Given the description of an element on the screen output the (x, y) to click on. 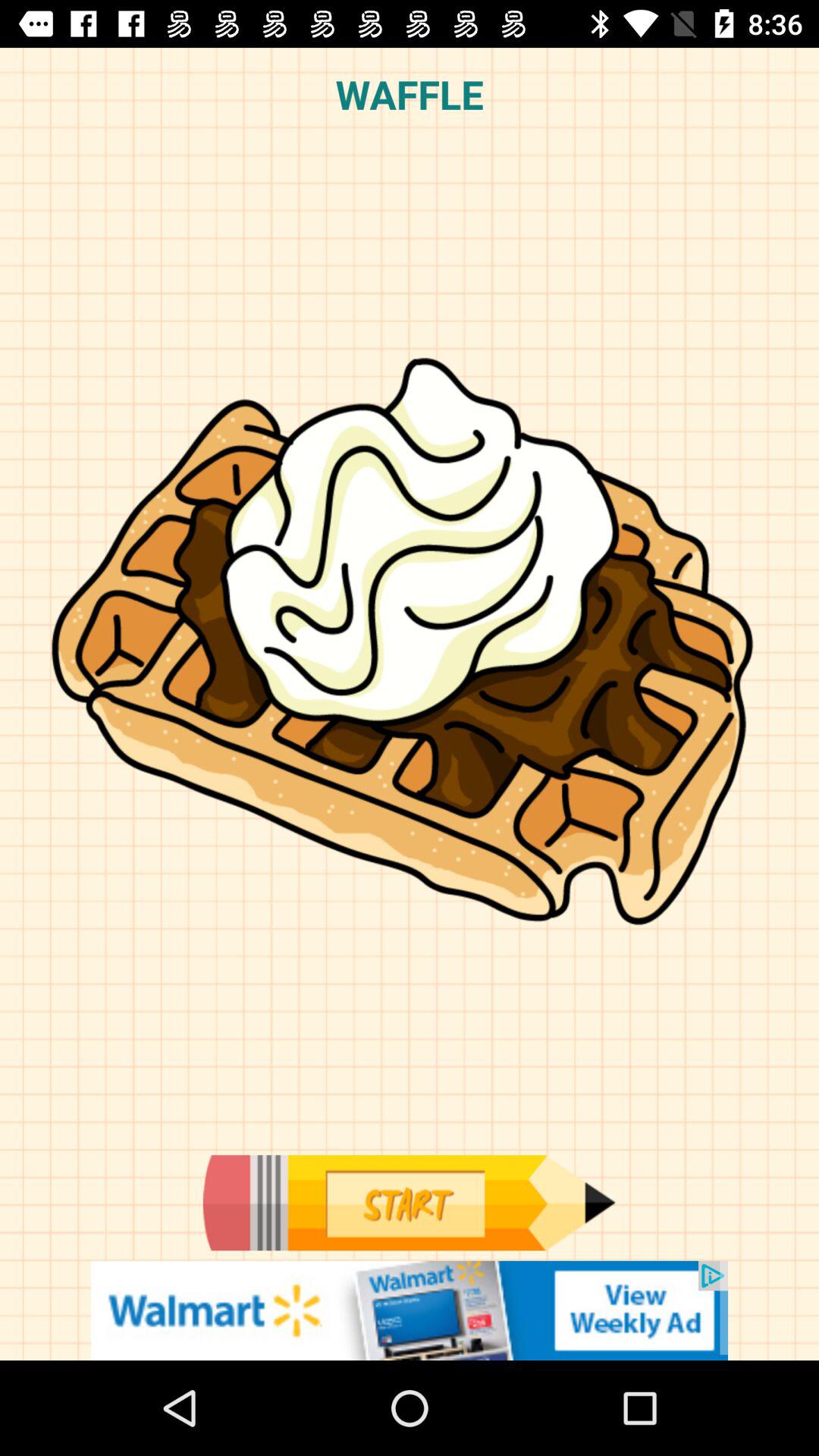
advertisement banner would take off site (409, 1310)
